Given the description of an element on the screen output the (x, y) to click on. 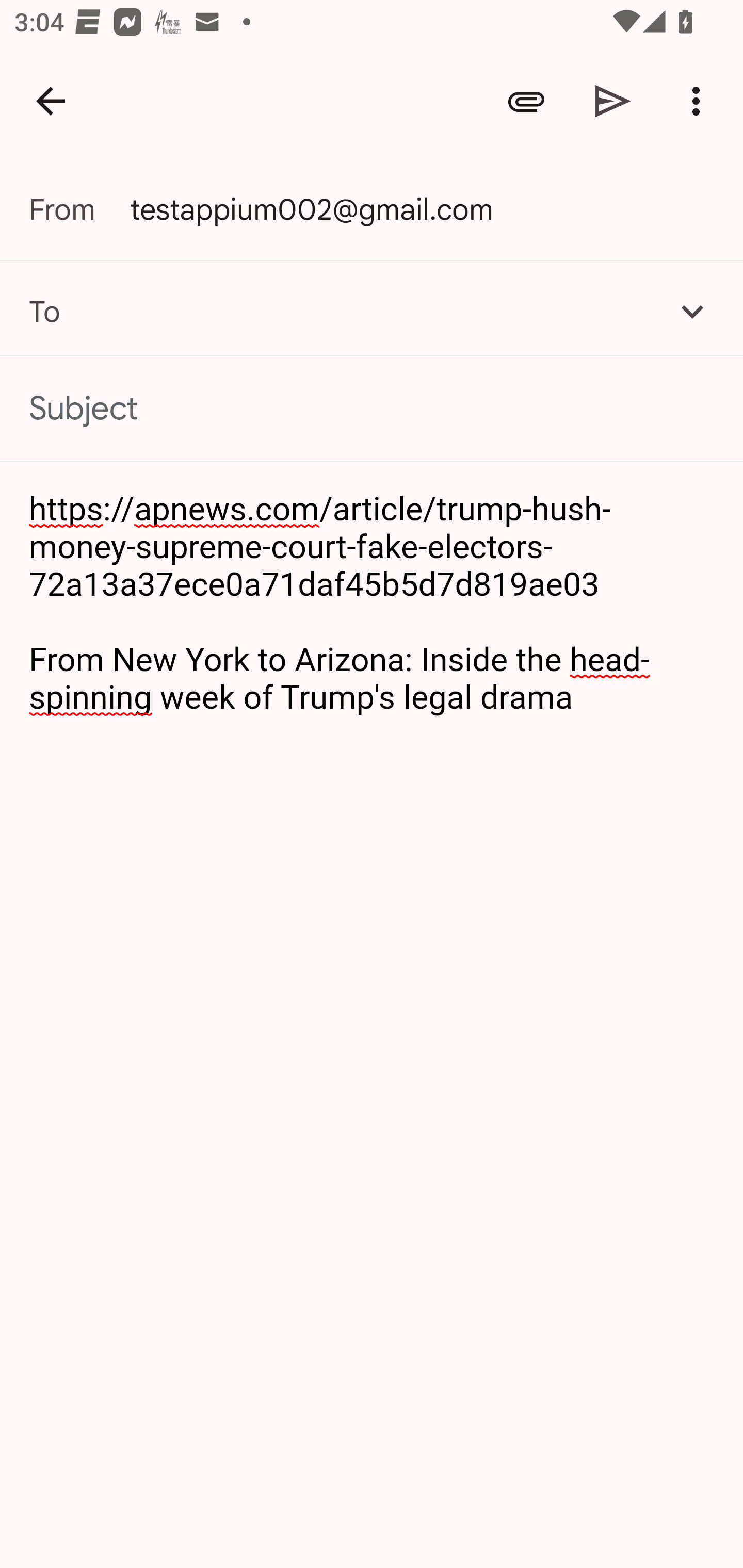
Navigate up (50, 101)
Attach file (525, 101)
Send (612, 101)
More options (699, 101)
From (79, 209)
Add Cc/Bcc (692, 311)
Subject (371, 407)
